Given the description of an element on the screen output the (x, y) to click on. 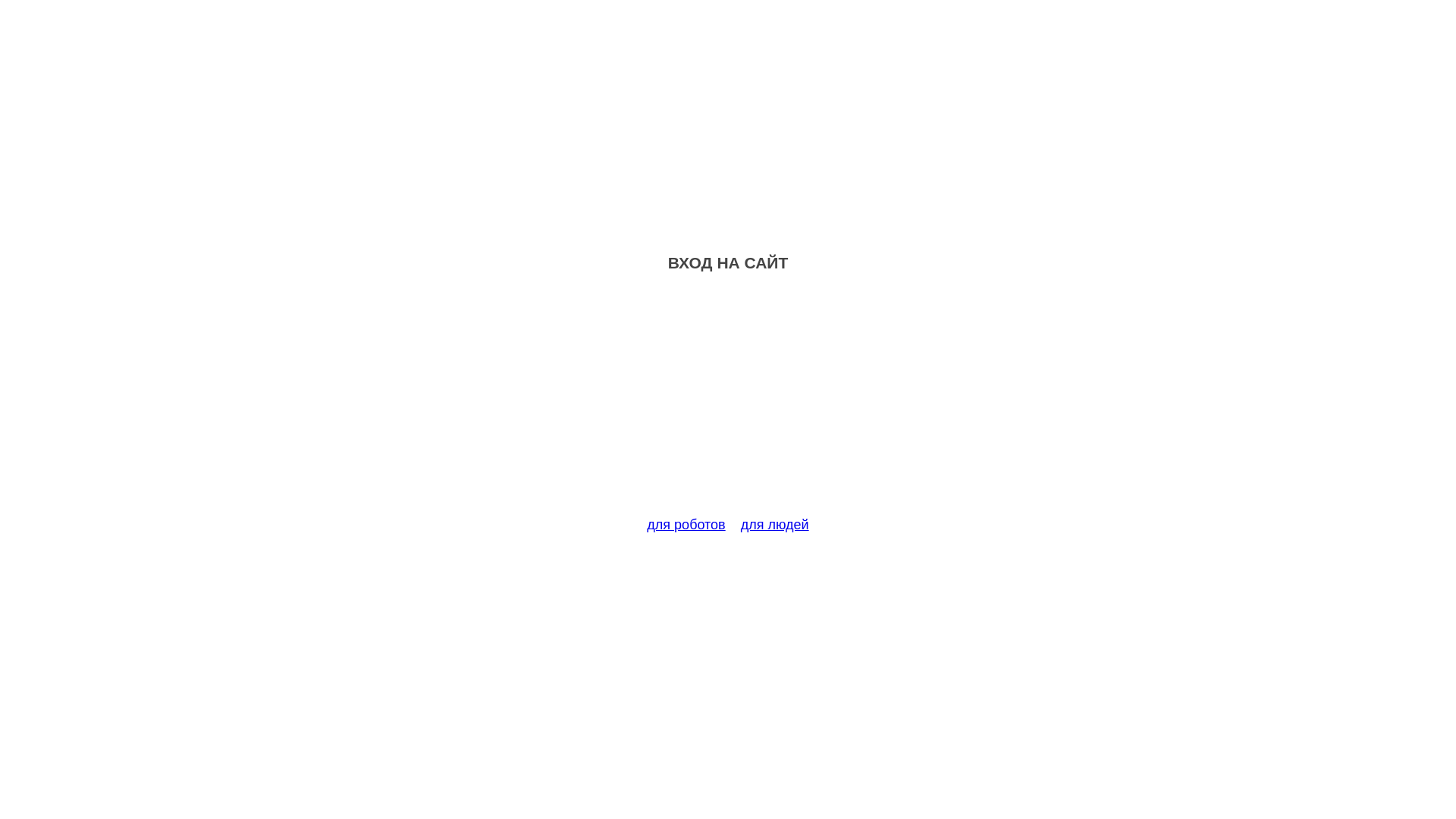
Advertisement Element type: hover (727, 403)
